Given the description of an element on the screen output the (x, y) to click on. 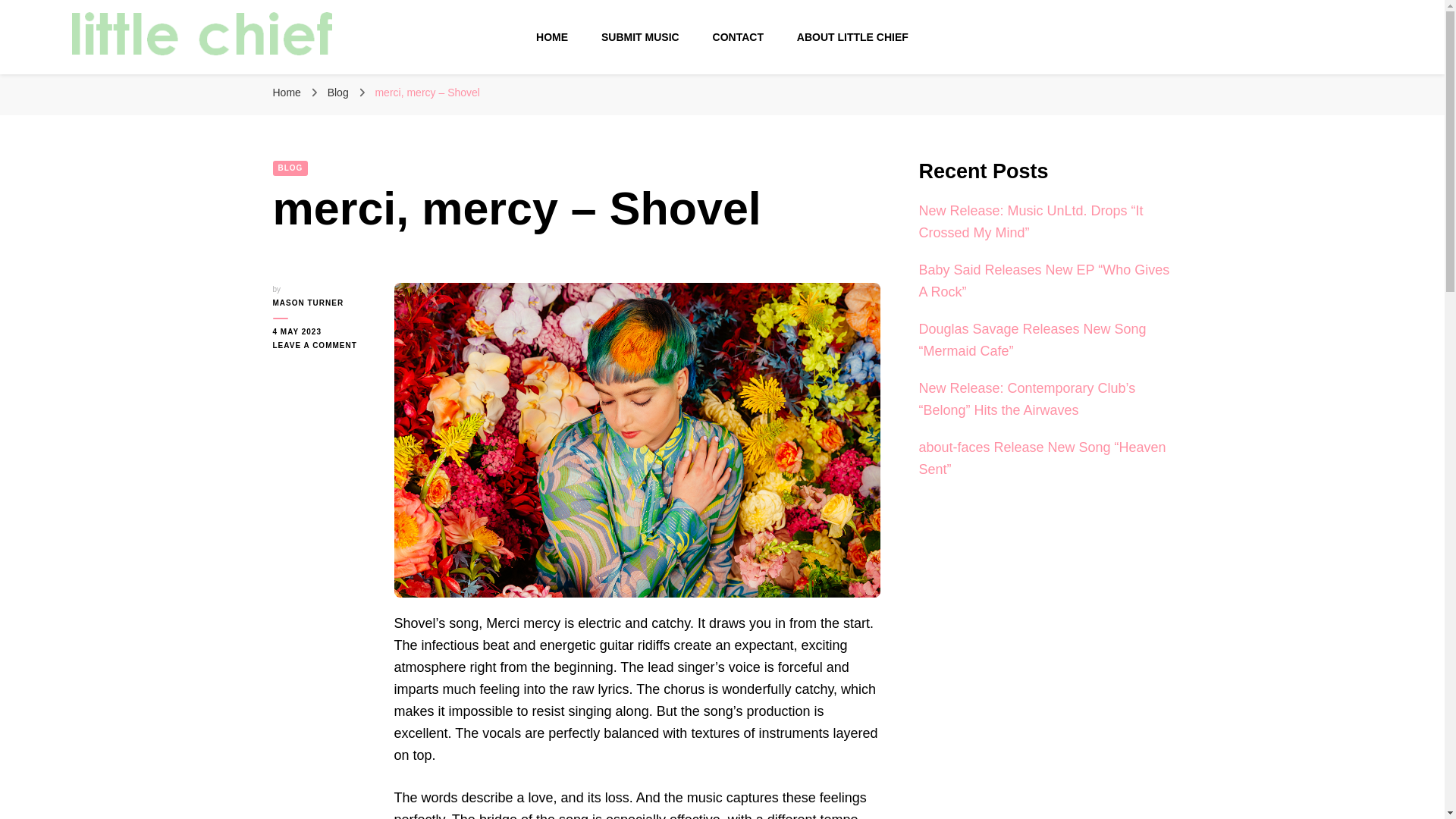
MASON TURNER (322, 303)
CONTACT (737, 37)
HOME (551, 37)
ABOUT LITTLE CHIEF (852, 37)
BLOG (290, 168)
SUBMIT MUSIC (640, 37)
Home (287, 92)
Blog (339, 92)
4 MAY 2023 (322, 332)
little chief (129, 78)
